Given the description of an element on the screen output the (x, y) to click on. 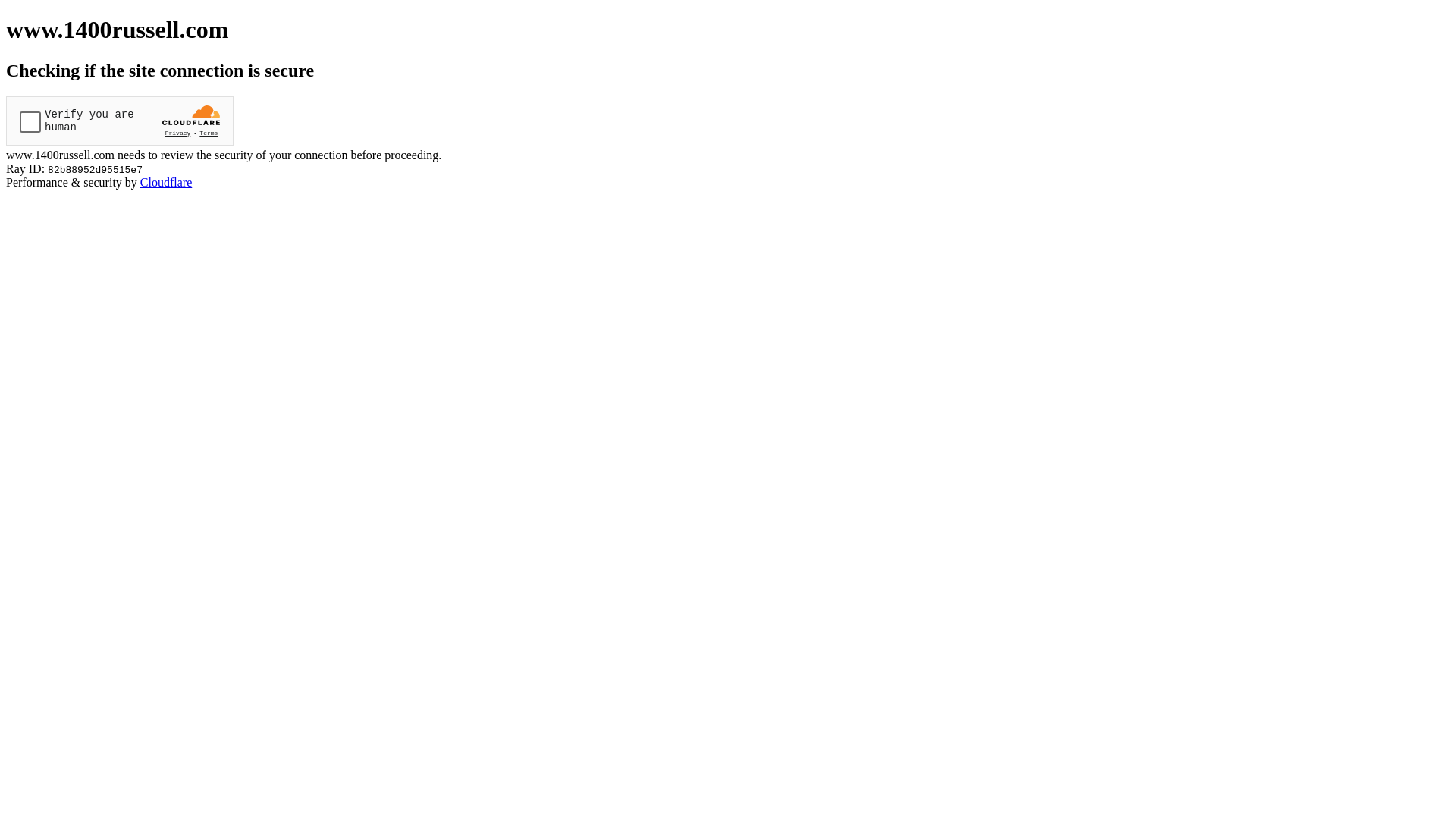
Cloudflare Element type: text (165, 181)
Widget containing a Cloudflare security challenge Element type: hover (119, 120)
